Given the description of an element on the screen output the (x, y) to click on. 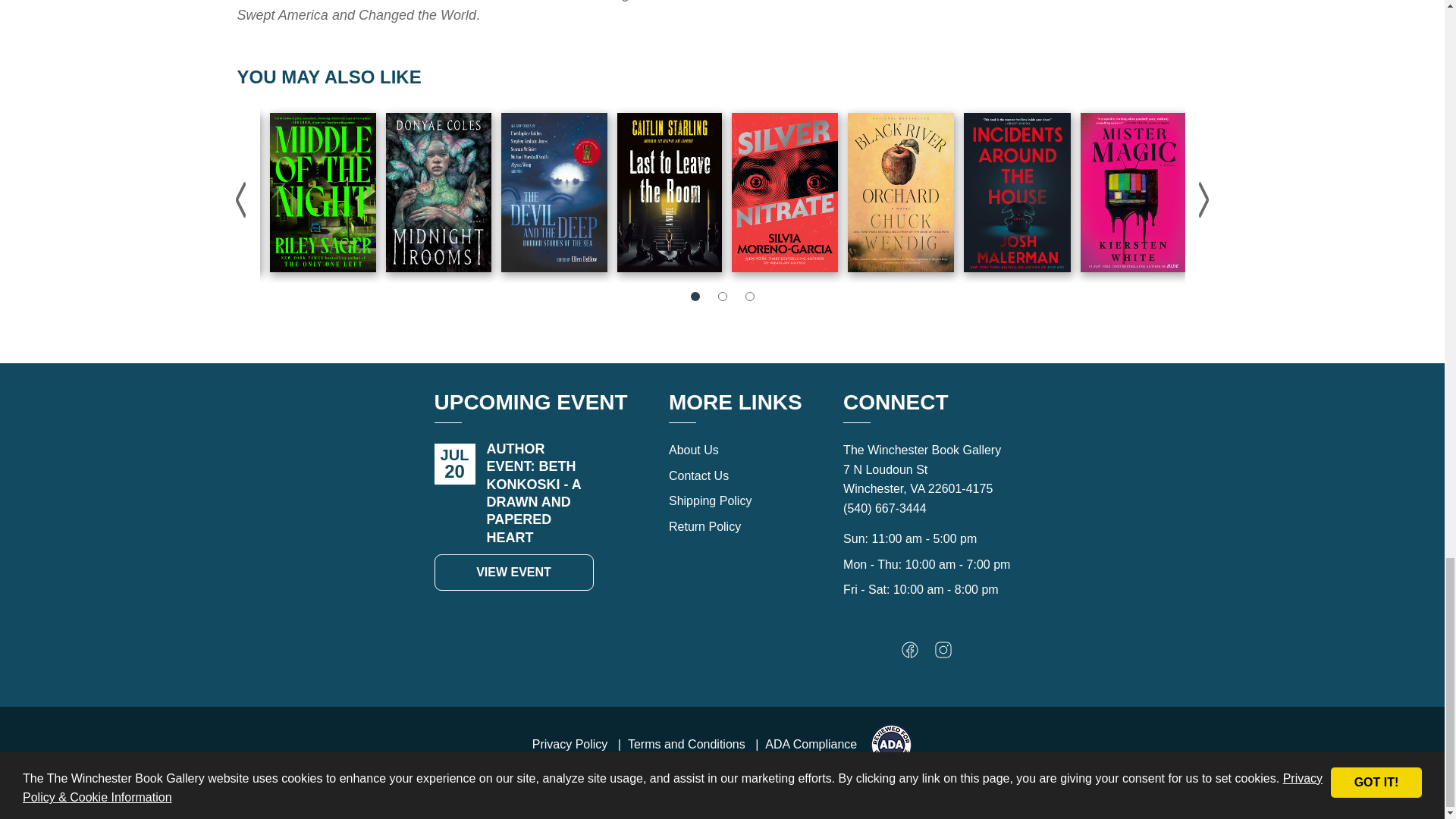
Connect with Facebook (909, 653)
Connect with Instagram (943, 653)
